Given the description of an element on the screen output the (x, y) to click on. 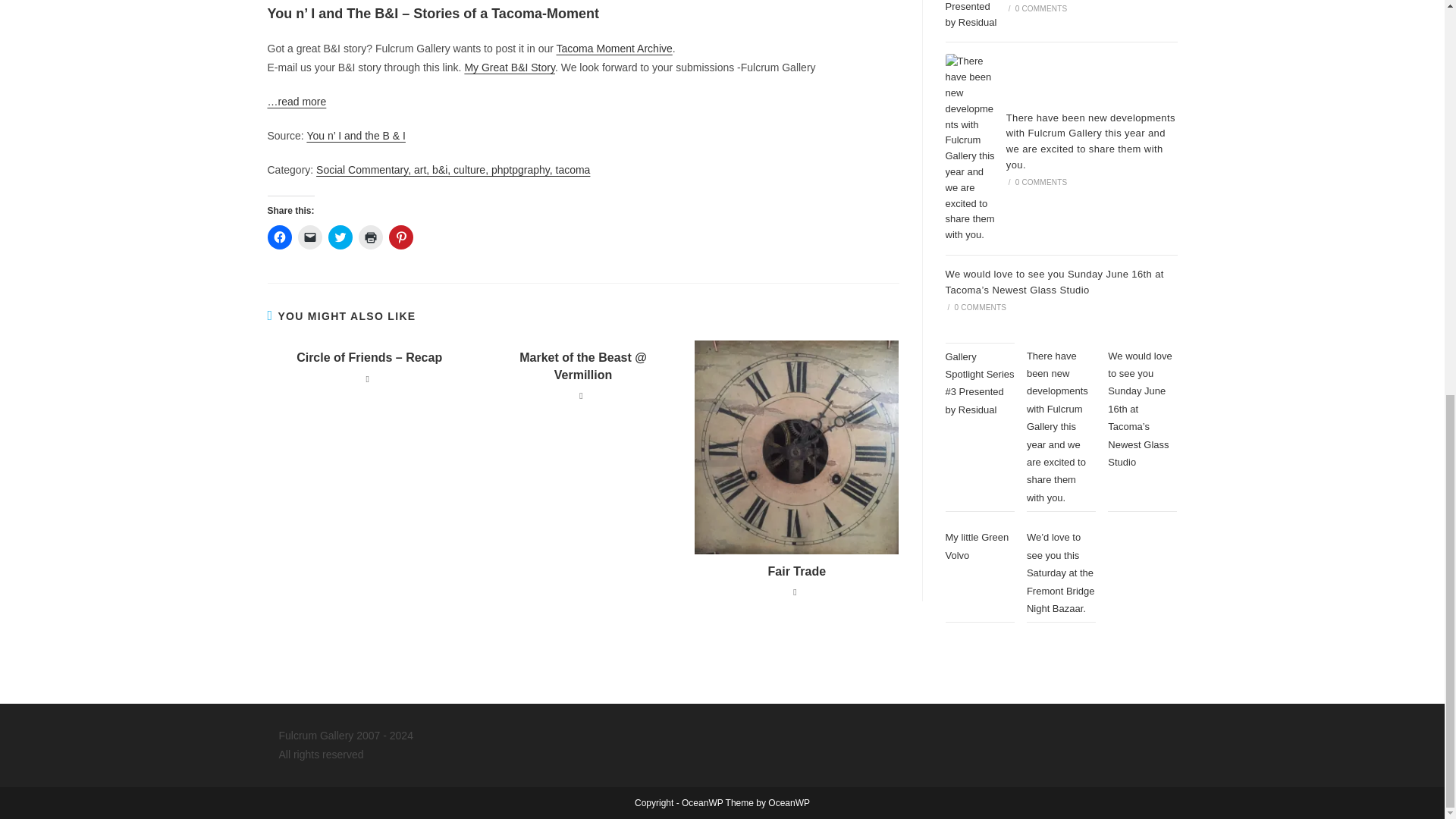
Click to print (369, 237)
Click to email a link to a friend (309, 237)
Click to share on Pinterest (400, 237)
Click to share on Facebook (278, 237)
Tacoma Moment Archive (614, 48)
Click to share on Twitter (339, 237)
